Given the description of an element on the screen output the (x, y) to click on. 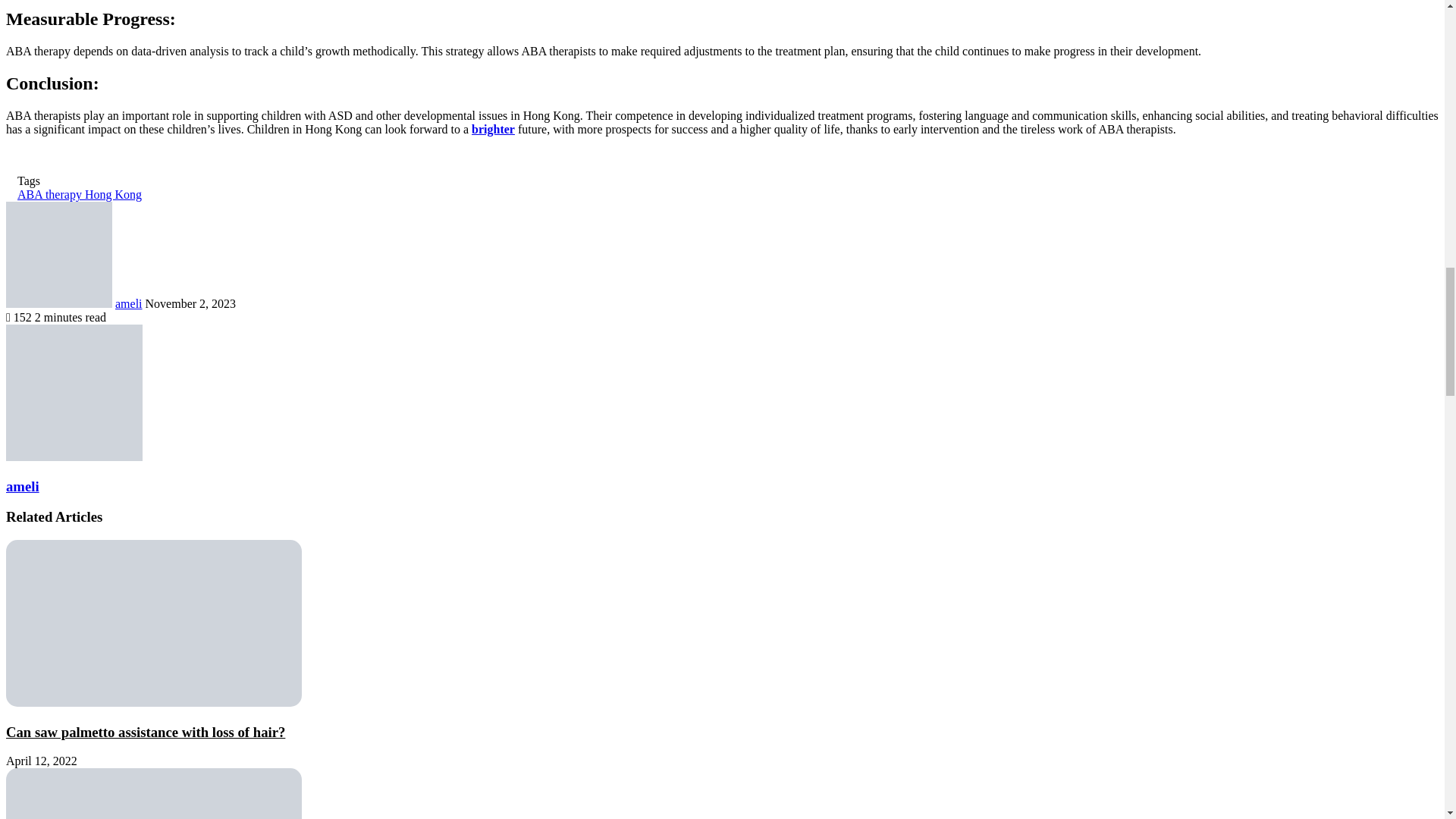
ameli (128, 303)
ABA therapy Hong Kong (78, 194)
ameli (128, 303)
brighter (493, 128)
ameli (22, 486)
